Given the description of an element on the screen output the (x, y) to click on. 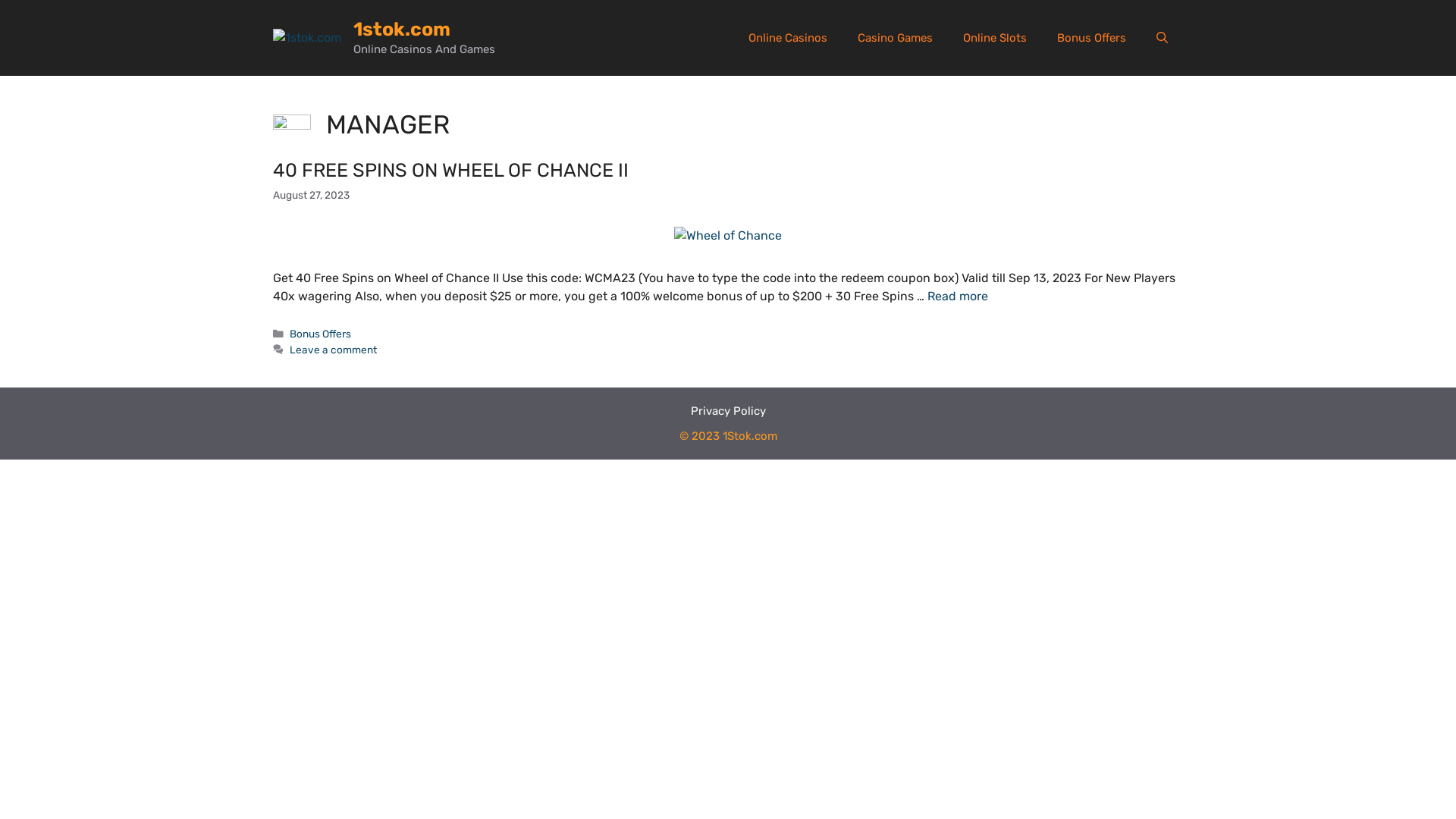
1stok.com Element type: text (401, 29)
Privacy Policy Element type: text (727, 410)
Casino Games Element type: text (894, 37)
Online Slots Element type: text (994, 37)
40 FREE SPINS ON WHEEL OF CHANCE II Element type: text (450, 170)
Bonus Offers Element type: text (320, 333)
Leave a comment Element type: text (332, 349)
Read more Element type: text (957, 295)
Online Casinos Element type: text (787, 37)
Bonus Offers Element type: text (1091, 37)
